Given the description of an element on the screen output the (x, y) to click on. 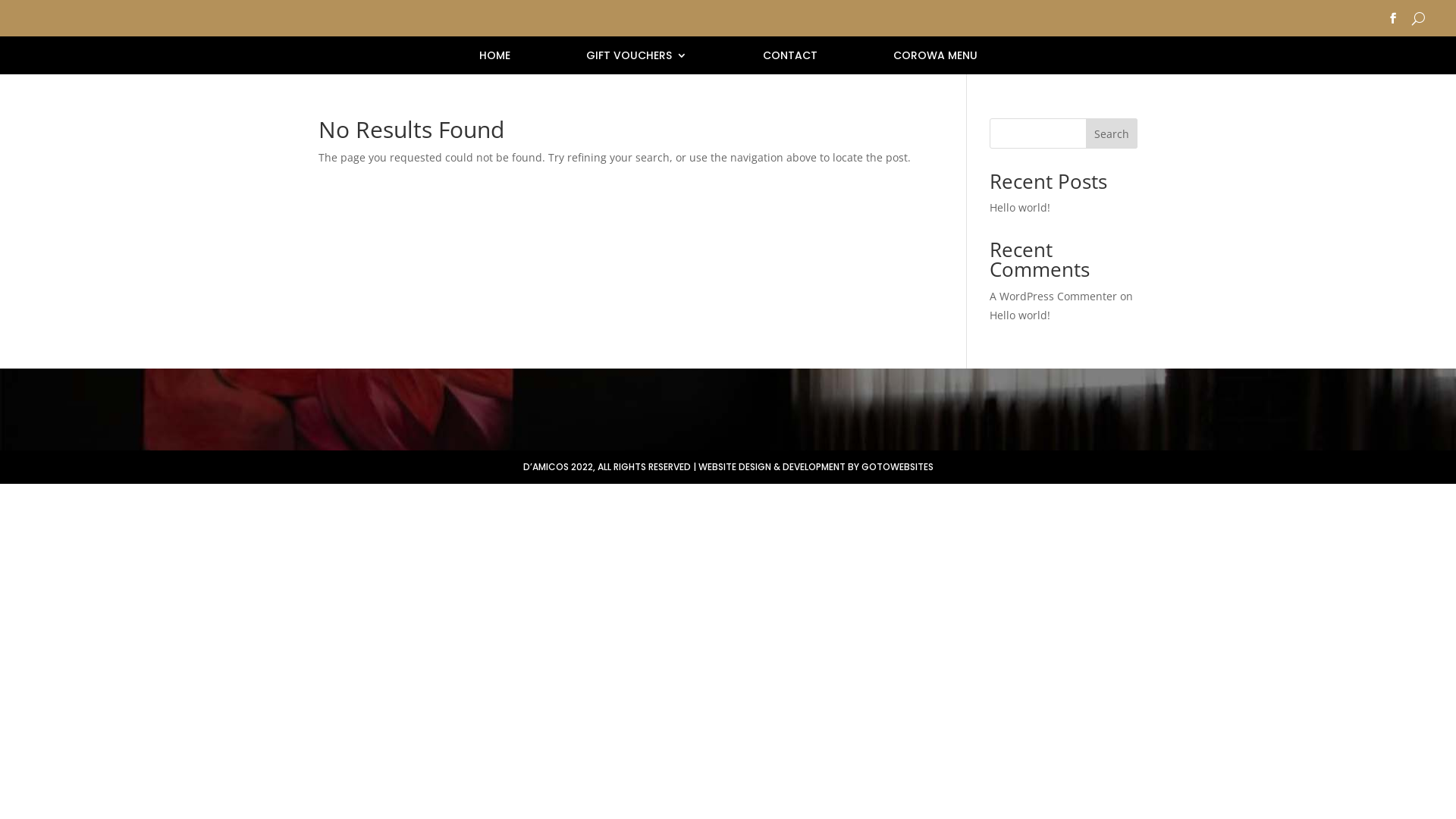
COROWA MENU Element type: text (935, 58)
Follow on Facebook Element type: hover (1392, 17)
GOTOWEBSITES Element type: text (897, 466)
GIFT VOUCHERS Element type: text (635, 58)
HOME Element type: text (494, 58)
CONTACT Element type: text (789, 58)
Hello world! Element type: text (1019, 207)
Hello world! Element type: text (1019, 314)
A WordPress Commenter Element type: text (1053, 295)
Search Element type: text (1111, 133)
